Given the description of an element on the screen output the (x, y) to click on. 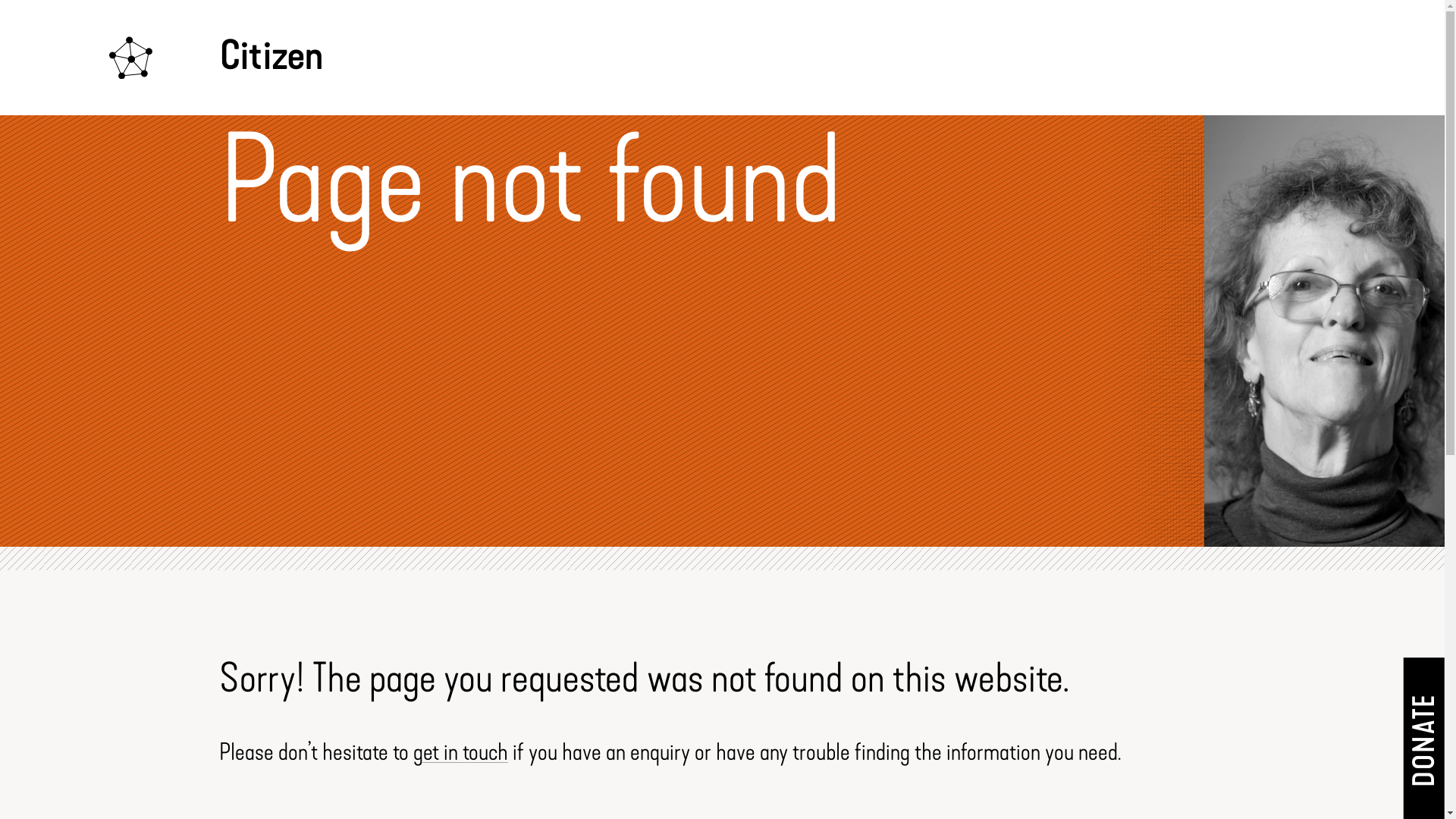
get in touch Element type: text (460, 751)
MENU Element type: text (1364, 57)
Citizen Element type: text (215, 57)
